Given the description of an element on the screen output the (x, y) to click on. 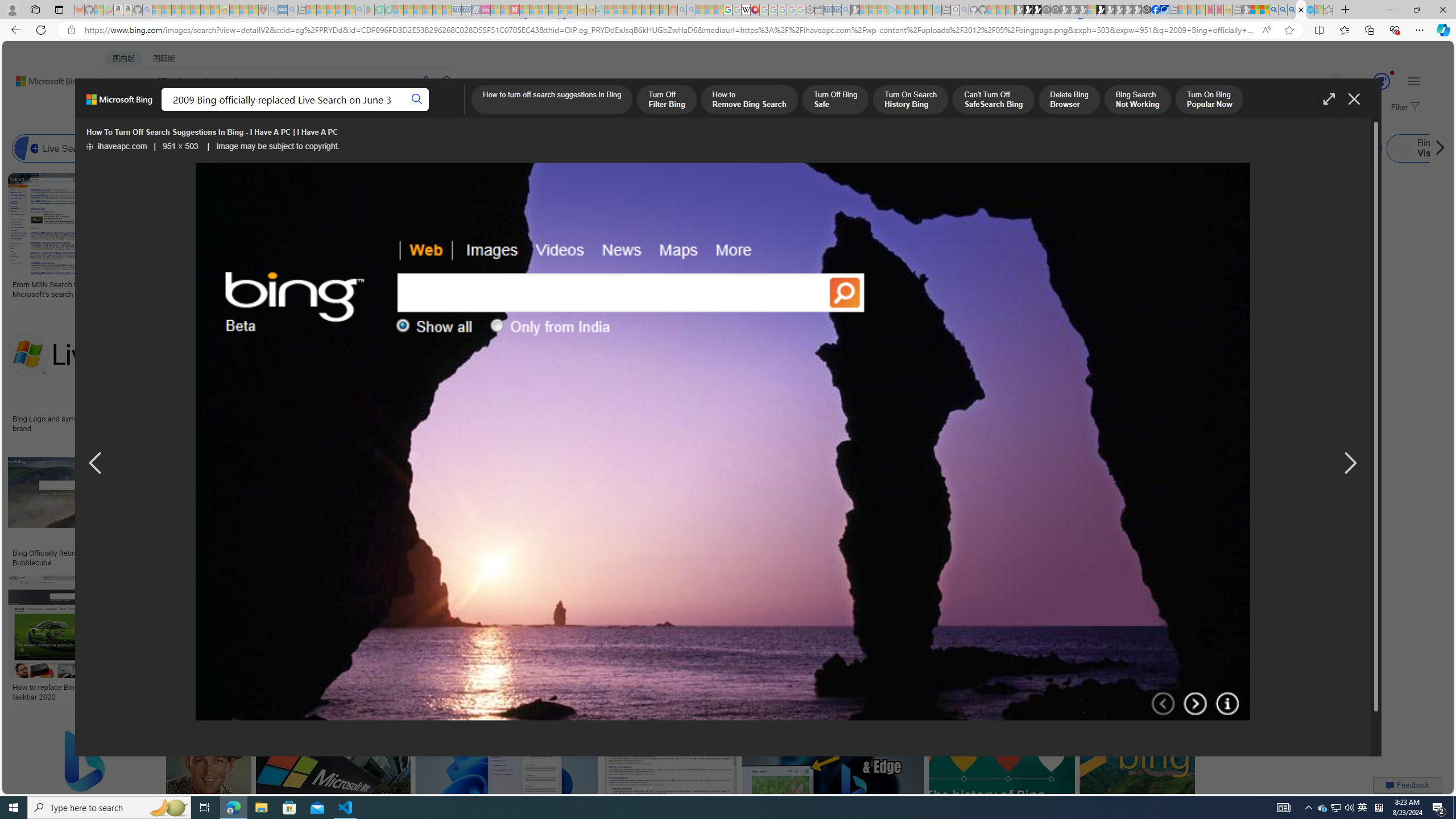
google - Search - Sleeping (359, 9)
Target page - Wikipedia (745, 9)
Animation (1392, 72)
IMAGES (205, 112)
VIDEOS (310, 111)
